Given the description of an element on the screen output the (x, y) to click on. 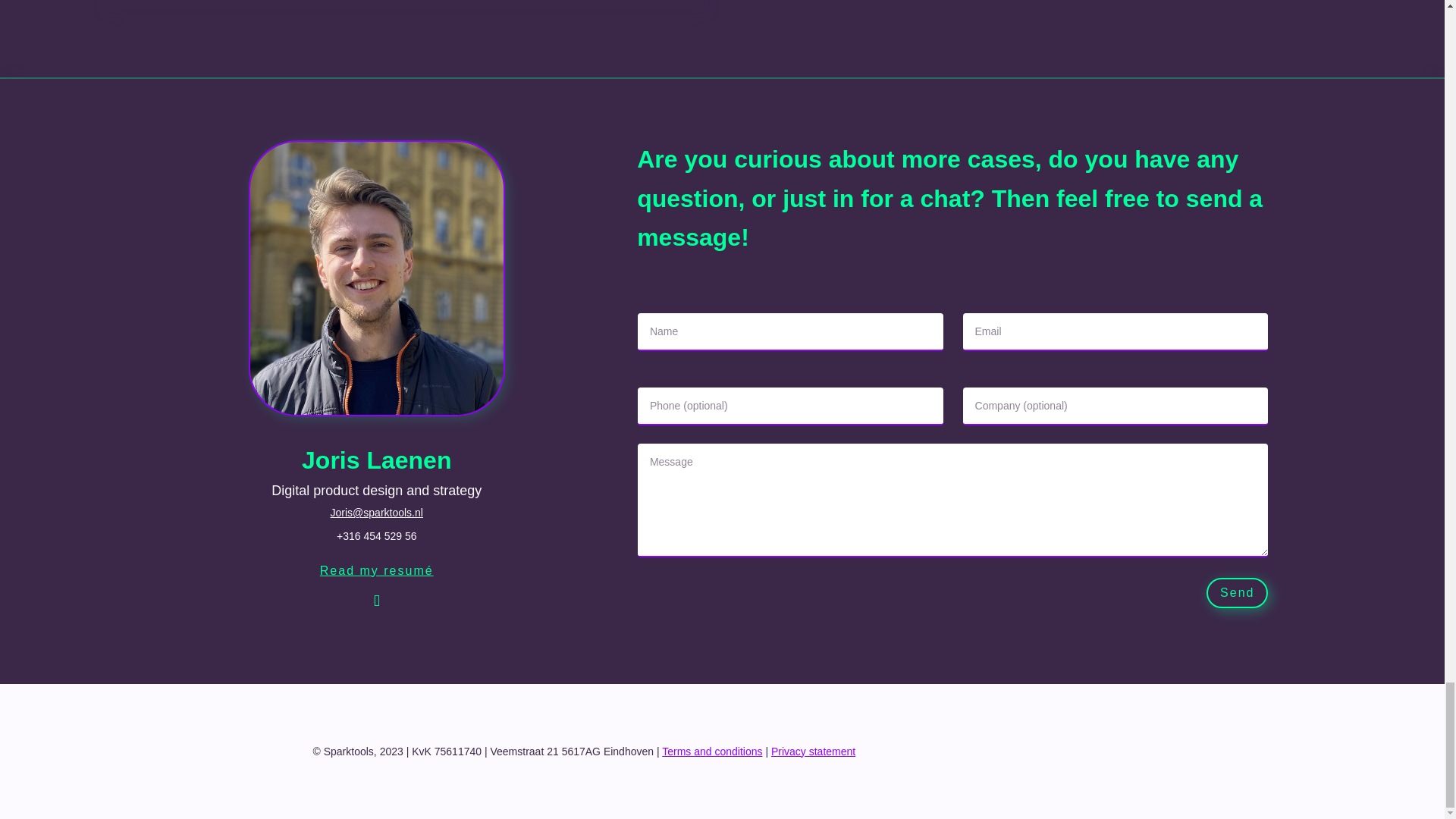
Terms and conditions (711, 751)
Send (1237, 593)
Privacy statement (813, 751)
Follow on LinkedIn (377, 600)
